Given the description of an element on the screen output the (x, y) to click on. 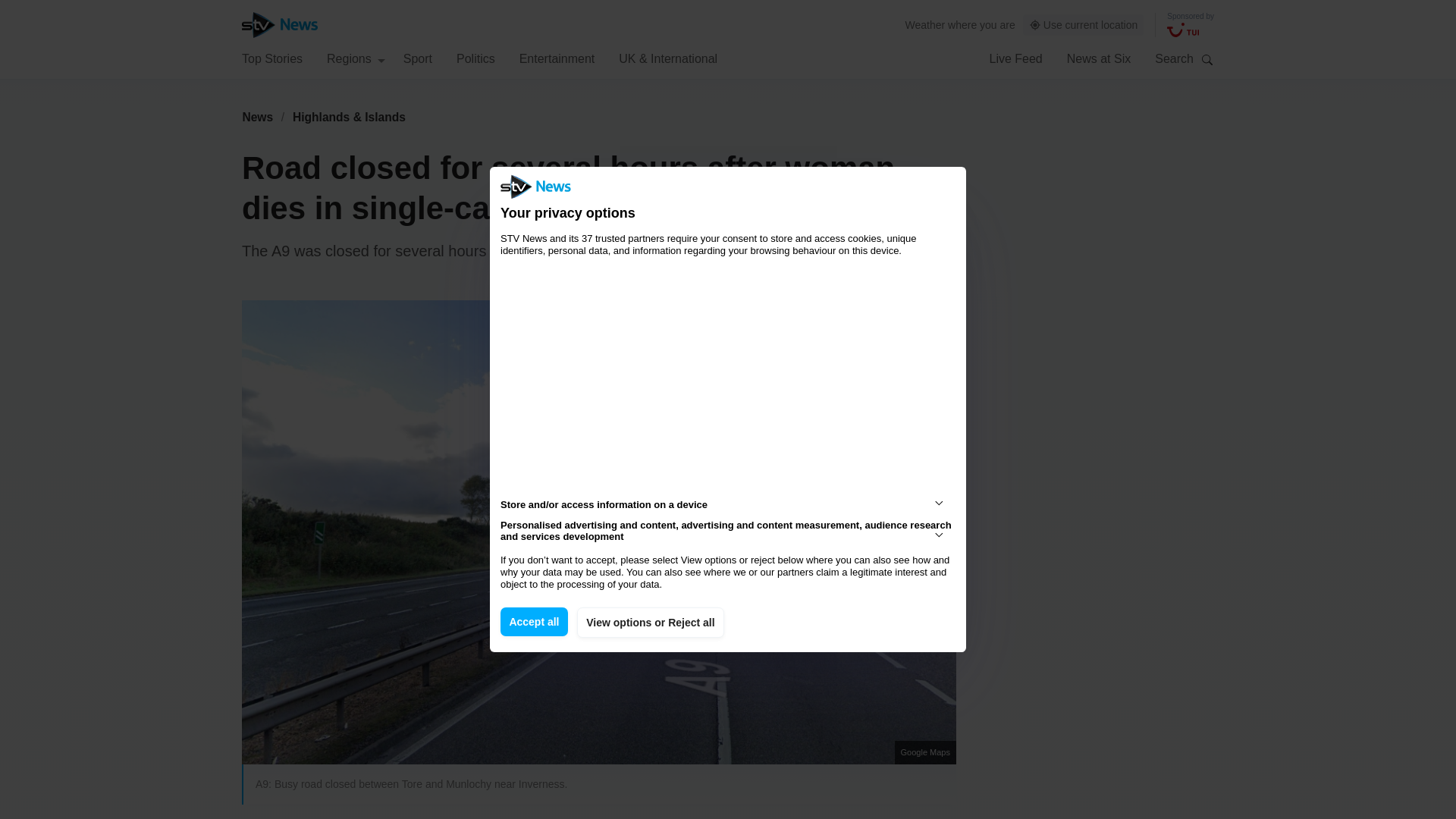
Regions (355, 57)
Top Stories (271, 57)
Live Feed (1015, 57)
Politics (476, 57)
Use current location (1083, 25)
Weather (924, 24)
News at Six (1099, 57)
Search (1206, 59)
News (257, 116)
Entertainment (557, 57)
